Given the description of an element on the screen output the (x, y) to click on. 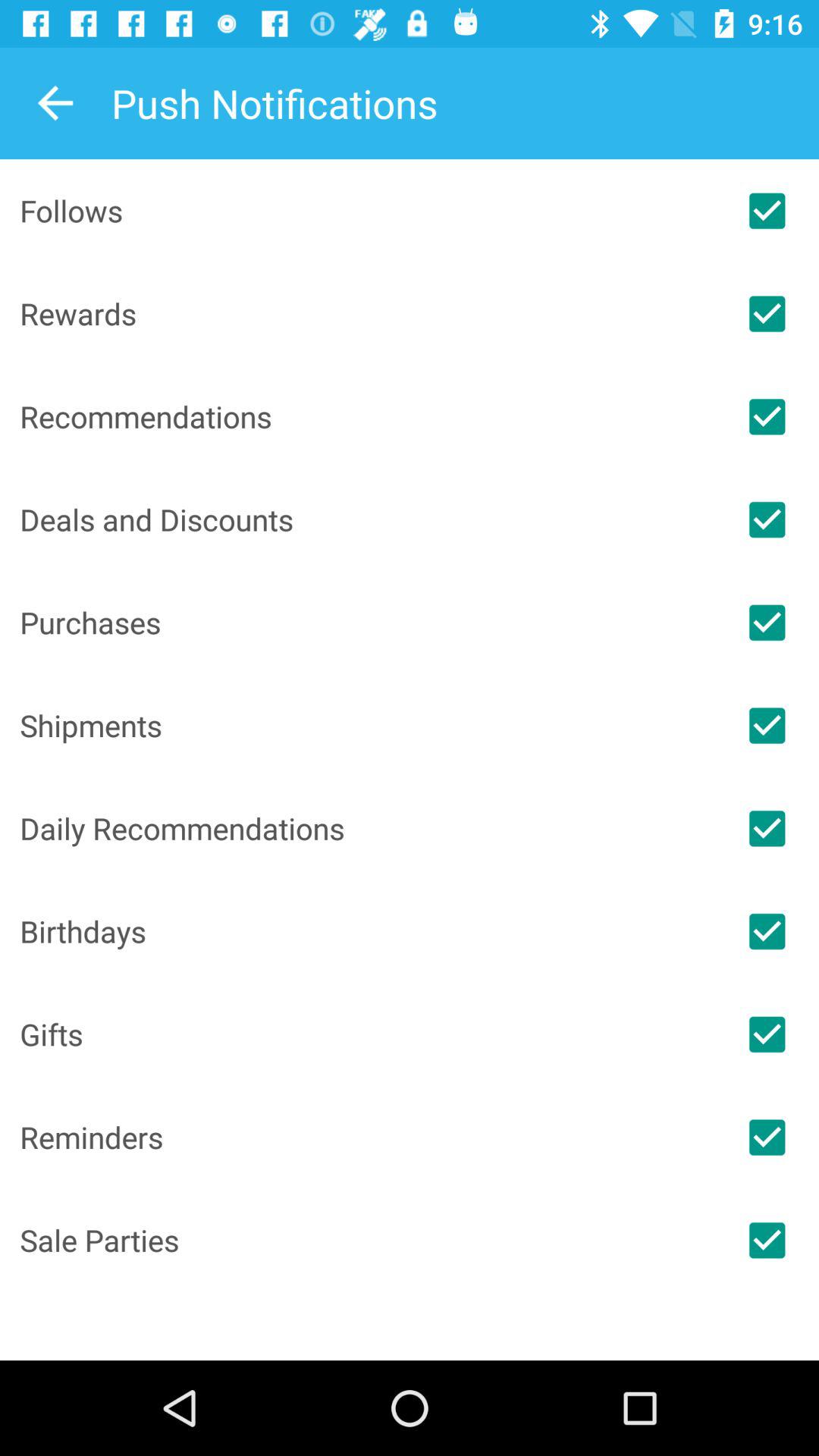
toggle sale parties notifications (767, 1240)
